Given the description of an element on the screen output the (x, y) to click on. 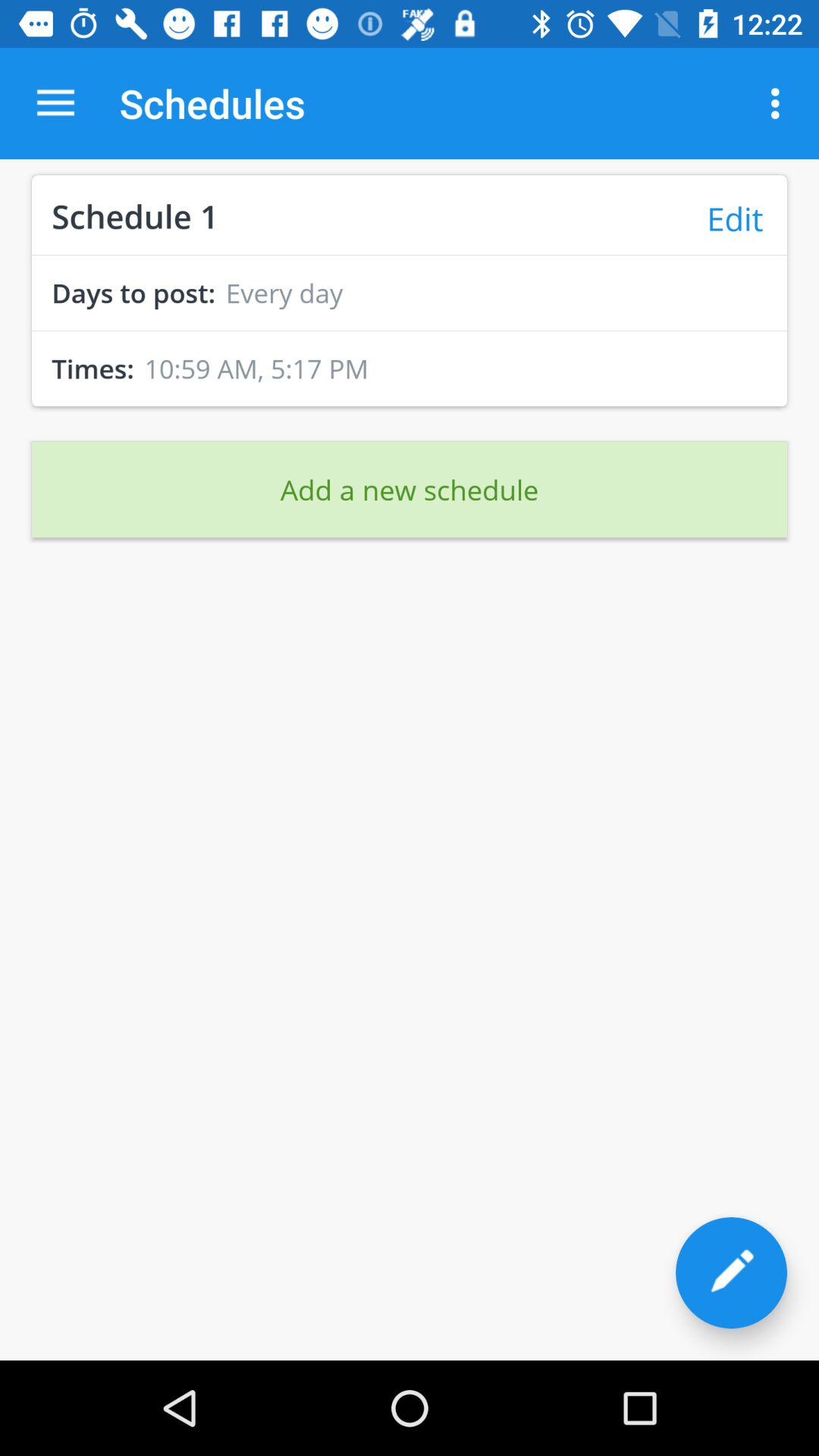
select the icon above schedule 1 icon (55, 103)
